Given the description of an element on the screen output the (x, y) to click on. 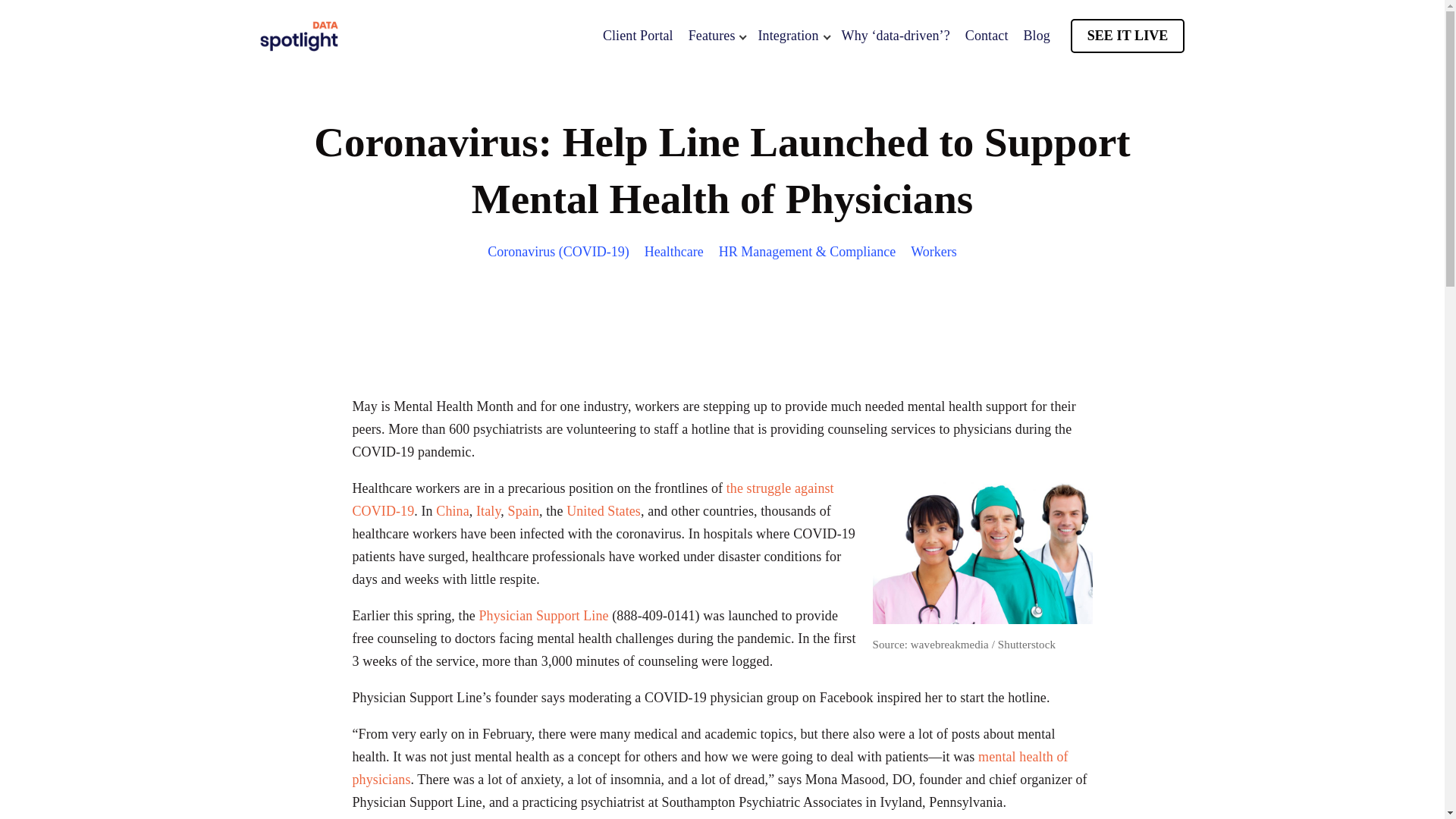
Integration (791, 35)
Blog (1036, 35)
Features (715, 35)
Client Portal (637, 35)
Contact (987, 35)
SEE IT LIVE (1127, 35)
